Given the description of an element on the screen output the (x, y) to click on. 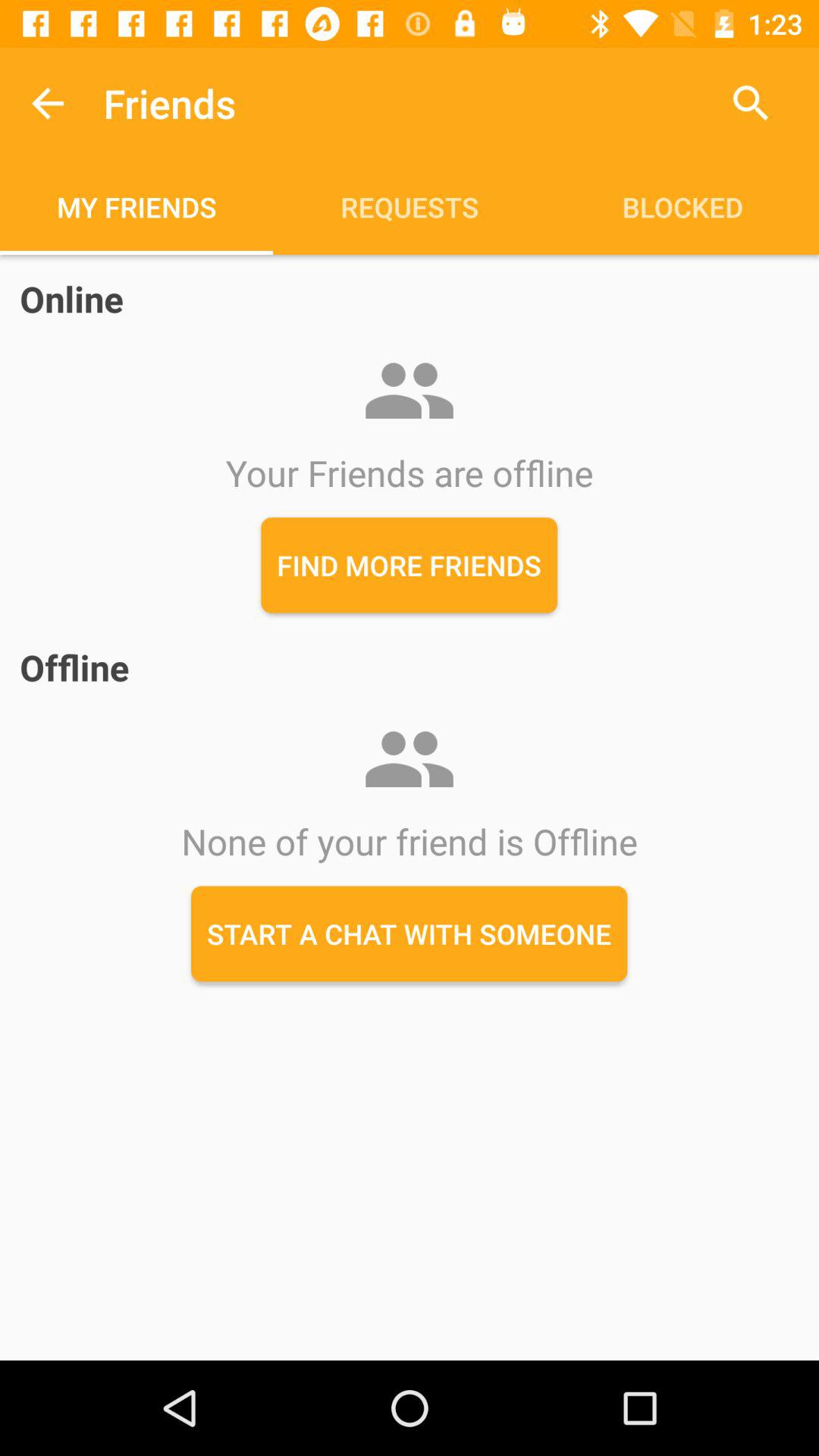
turn off the item to the left of the friends (47, 103)
